Given the description of an element on the screen output the (x, y) to click on. 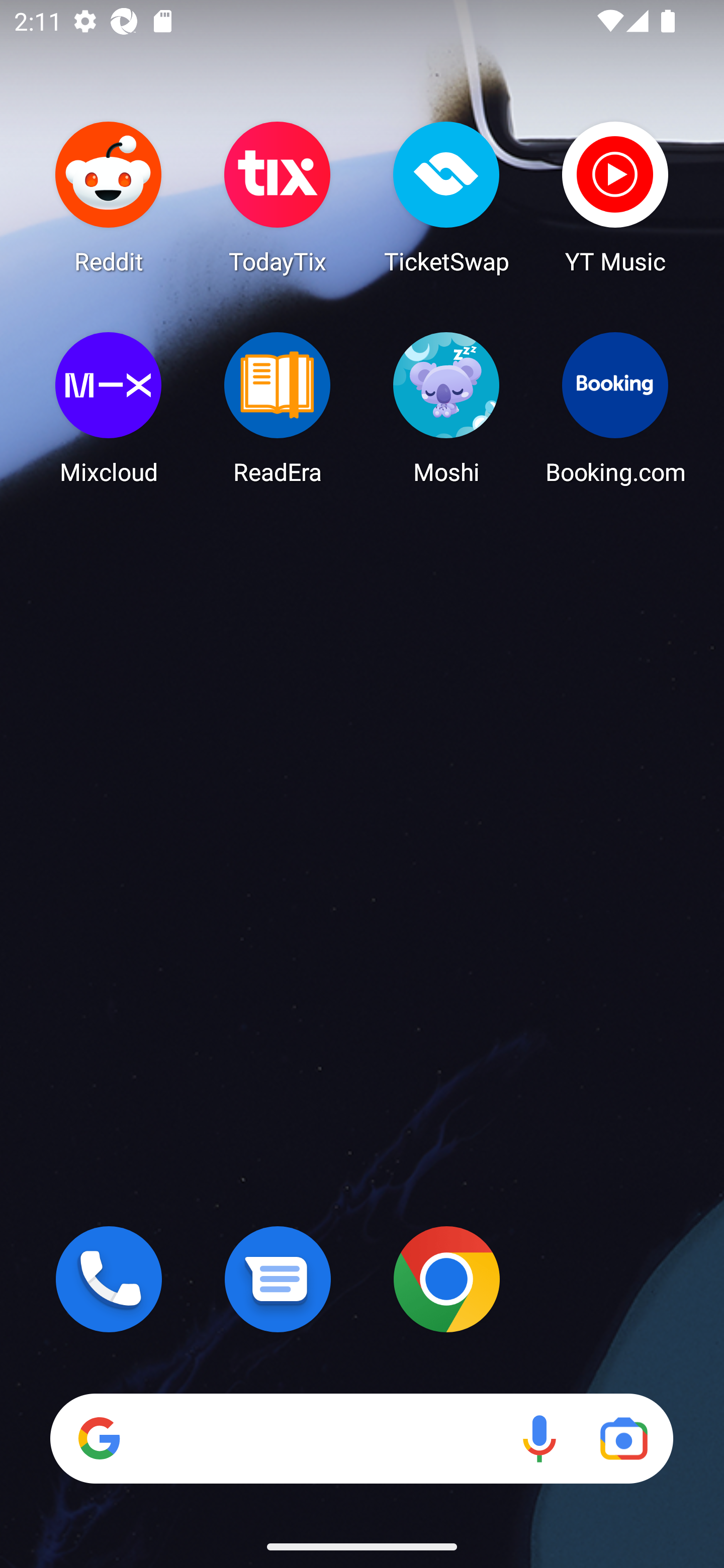
Reddit (108, 196)
TodayTix (277, 196)
TicketSwap (445, 196)
YT Music (615, 196)
Mixcloud (108, 407)
ReadEra (277, 407)
Moshi (445, 407)
Booking.com (615, 407)
Phone (108, 1279)
Messages (277, 1279)
Chrome (446, 1279)
Search Voice search Google Lens (361, 1438)
Voice search (539, 1438)
Google Lens (623, 1438)
